Given the description of an element on the screen output the (x, y) to click on. 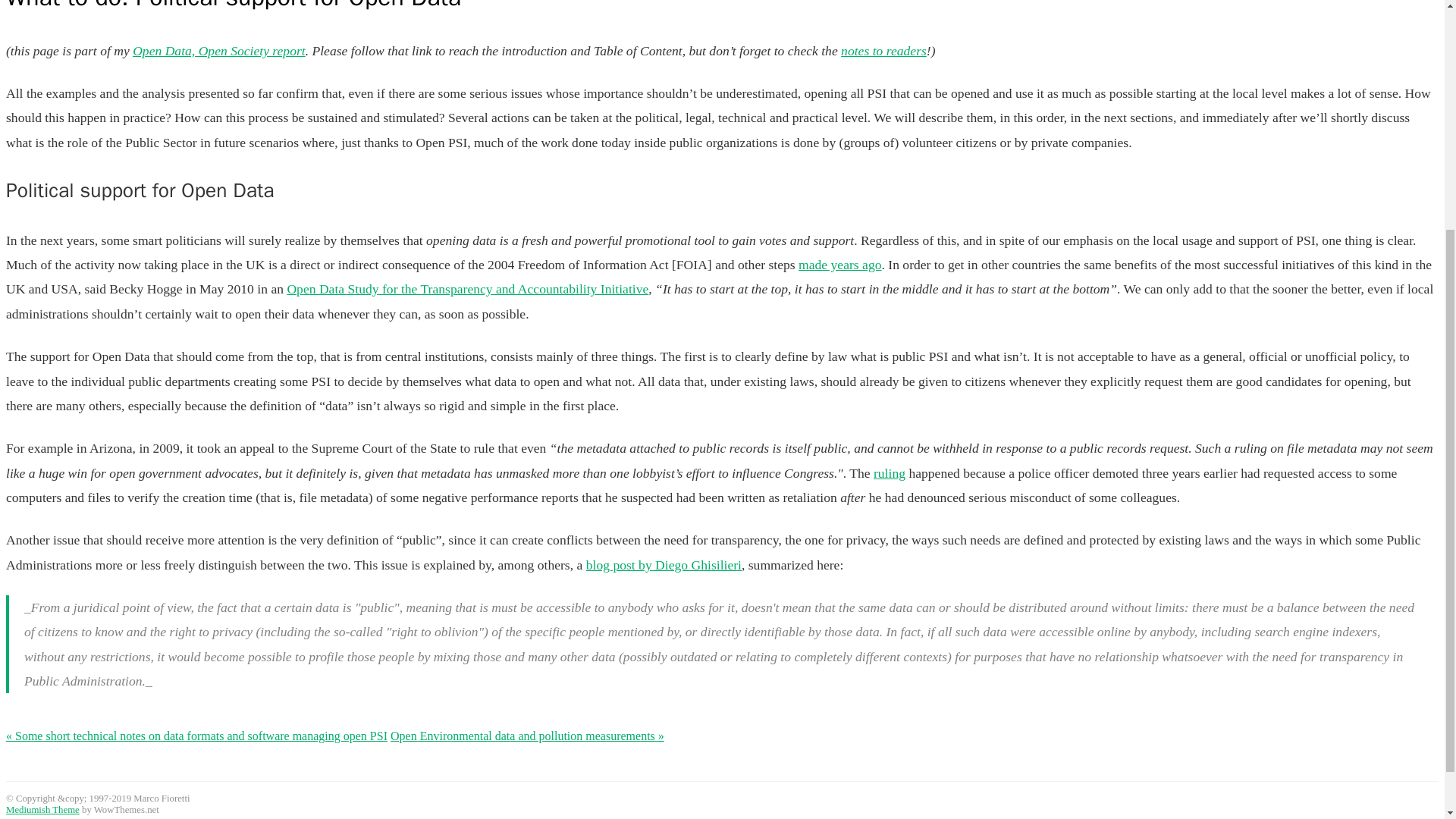
blog post by Diego Ghisilieri (663, 564)
notes to readers (883, 50)
made years ago (838, 264)
Mediumish Theme (42, 809)
Open Data, Open Society report (218, 50)
ruling (889, 473)
